Given the description of an element on the screen output the (x, y) to click on. 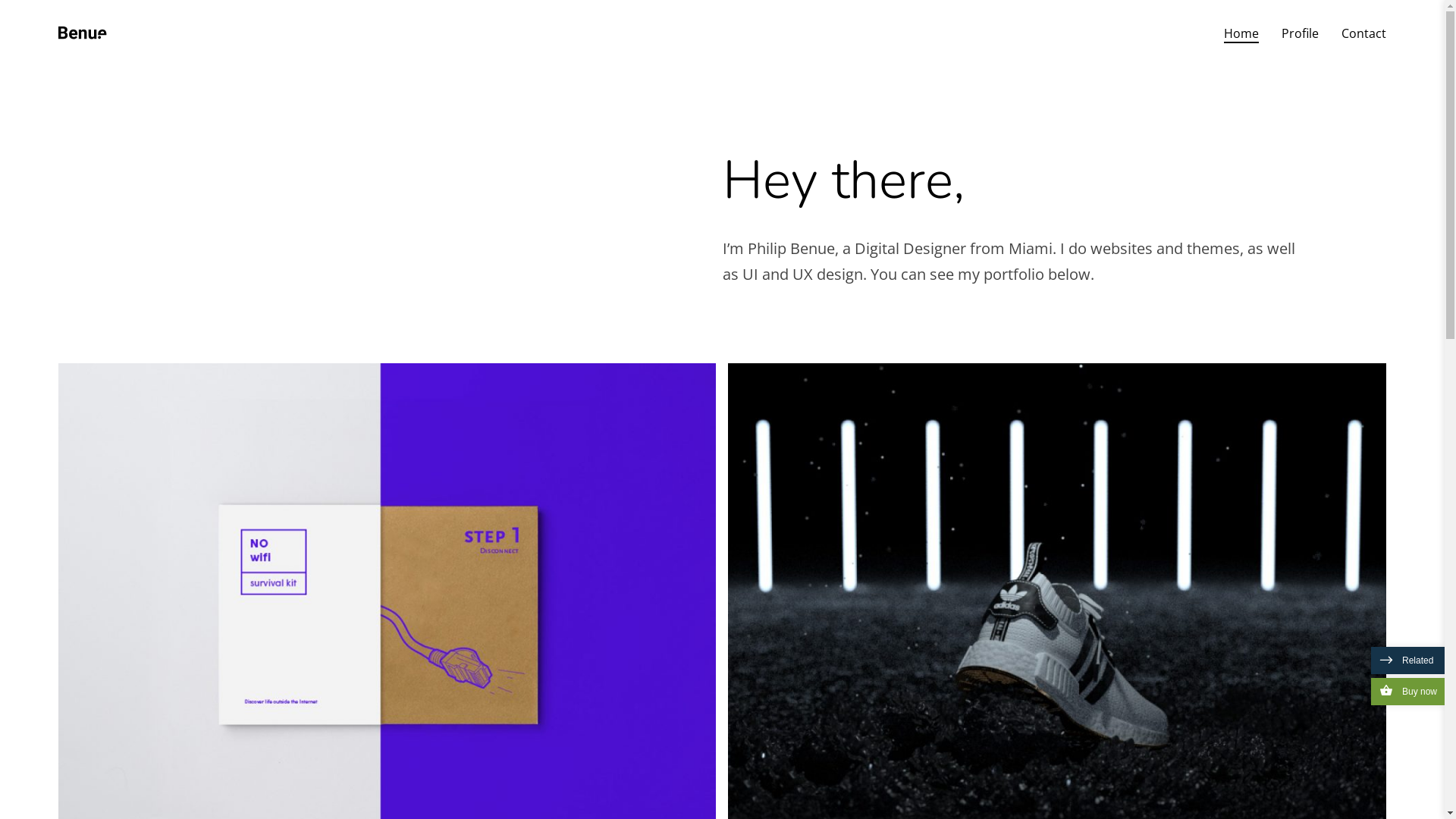
Related Element type: text (1407, 660)
Profile Element type: text (1299, 33)
Contact Element type: text (1363, 33)
Buy now Element type: text (1407, 691)
Home Element type: text (1240, 33)
